Given the description of an element on the screen output the (x, y) to click on. 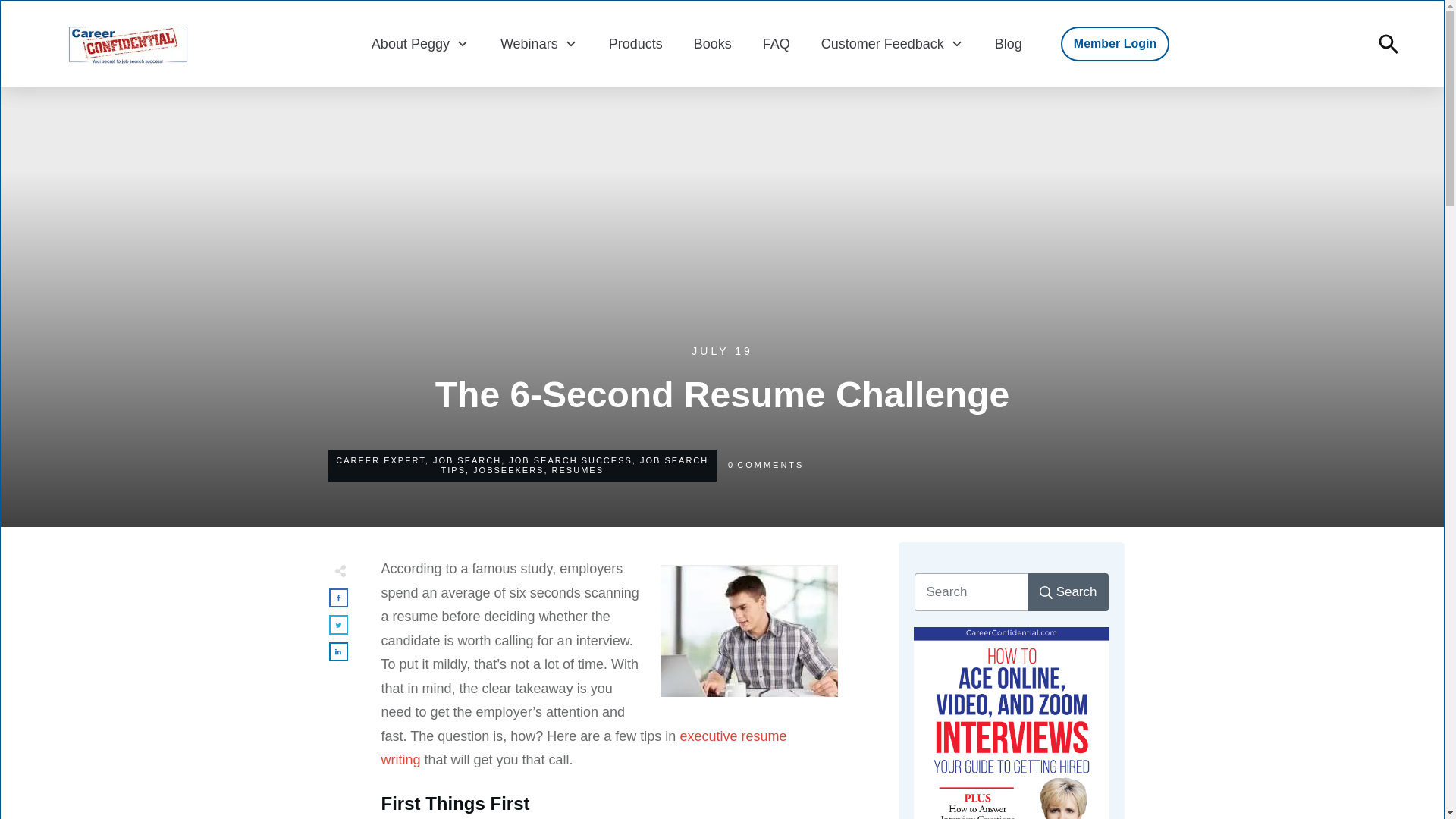
Books (713, 43)
Job Search Tips (575, 465)
Webinars (539, 43)
Products (635, 43)
FAQ (776, 43)
About Peggy (419, 43)
Member Login (1115, 43)
Job Search (466, 460)
Job Search Success (569, 460)
Blog (1008, 43)
Career Expert (380, 460)
Customer Feedback (892, 43)
Resumes (577, 470)
Jobseekers (508, 470)
